Given the description of an element on the screen output the (x, y) to click on. 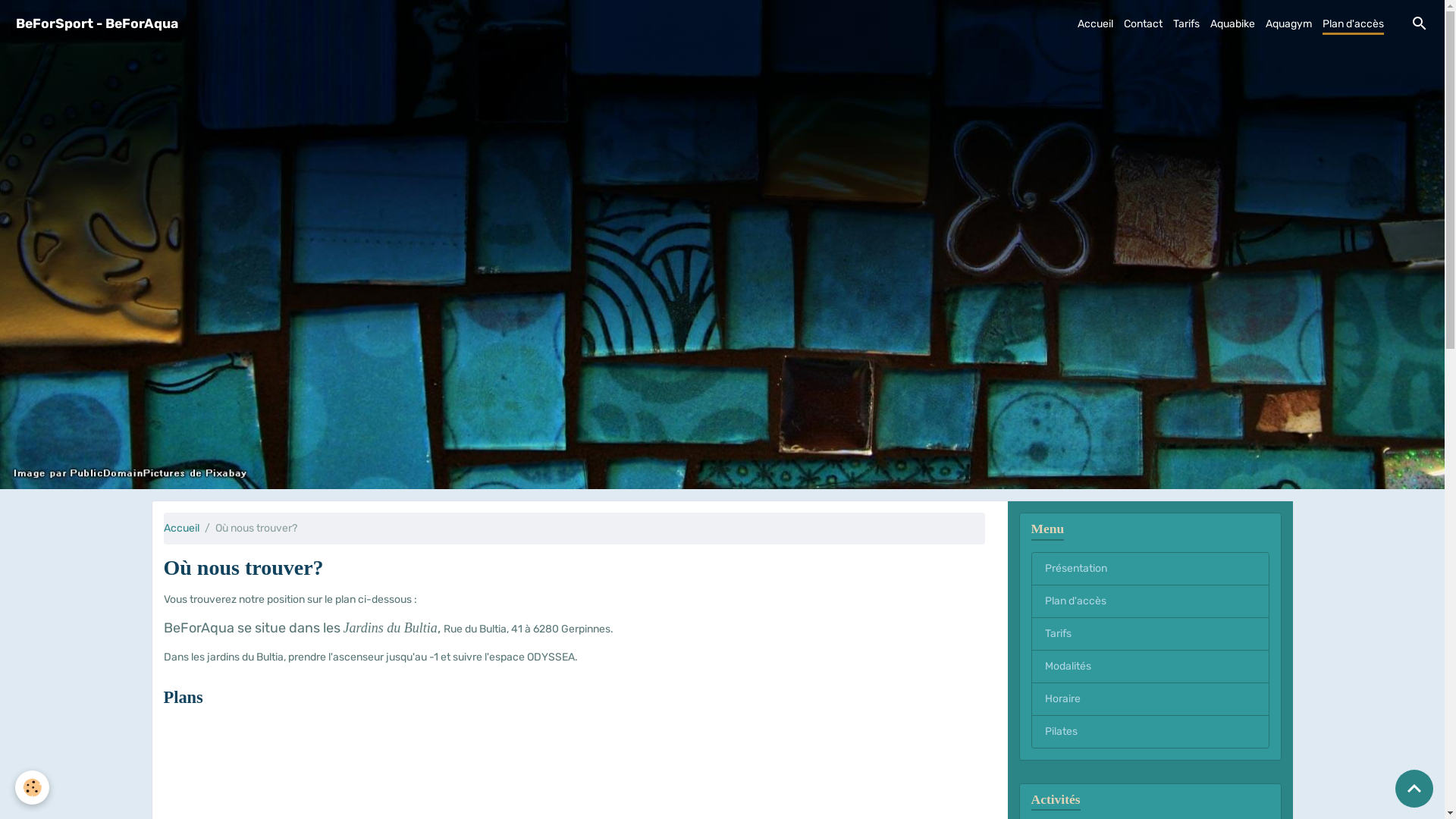
Accueil Element type: text (181, 527)
Tarifs Element type: text (1185, 23)
Horaire Element type: text (1150, 698)
Tarifs Element type: text (1150, 633)
BeForSport - BeForAqua Element type: text (96, 23)
Aquabike Element type: text (1232, 23)
Accueil Element type: text (1095, 23)
Aquagym Element type: text (1288, 23)
Pilates Element type: text (1150, 731)
Menu Element type: text (1149, 526)
Contact Element type: text (1142, 23)
